Given the description of an element on the screen output the (x, y) to click on. 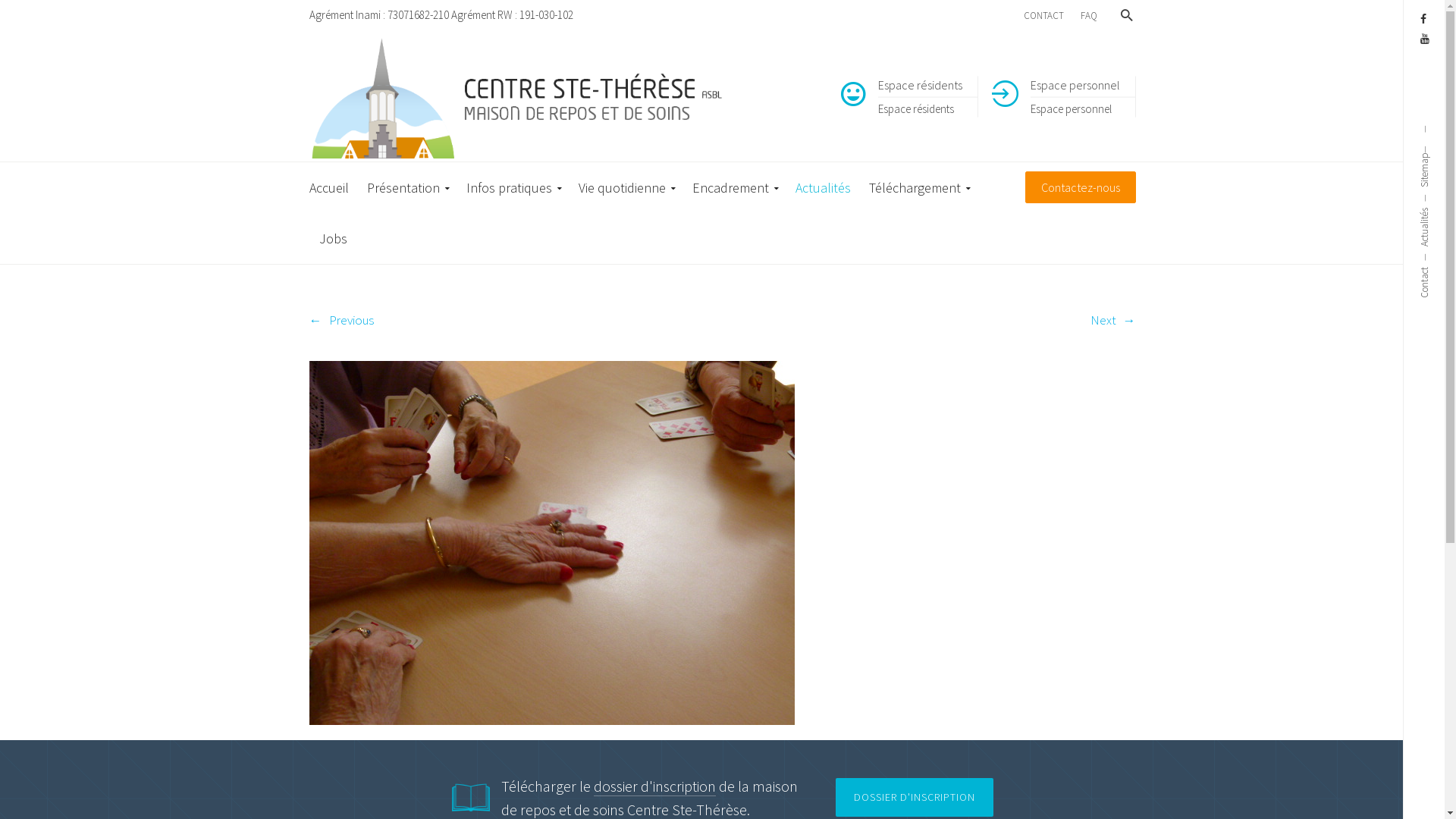
Jobs Element type: text (333, 237)
FAQ Element type: text (1088, 16)
Accueil Element type: text (333, 187)
Infos pratiques Element type: text (513, 187)
Contactez-nous Element type: text (1080, 187)
Vie quotidienne Element type: text (626, 187)
dossier d'inscription Element type: text (654, 786)
CONTACT Element type: text (1042, 16)
Encadrement Element type: text (734, 187)
DOSSIER D'INSCRIPTION Element type: text (914, 797)
Espace personnel Element type: text (1069, 107)
